Given the description of an element on the screen output the (x, y) to click on. 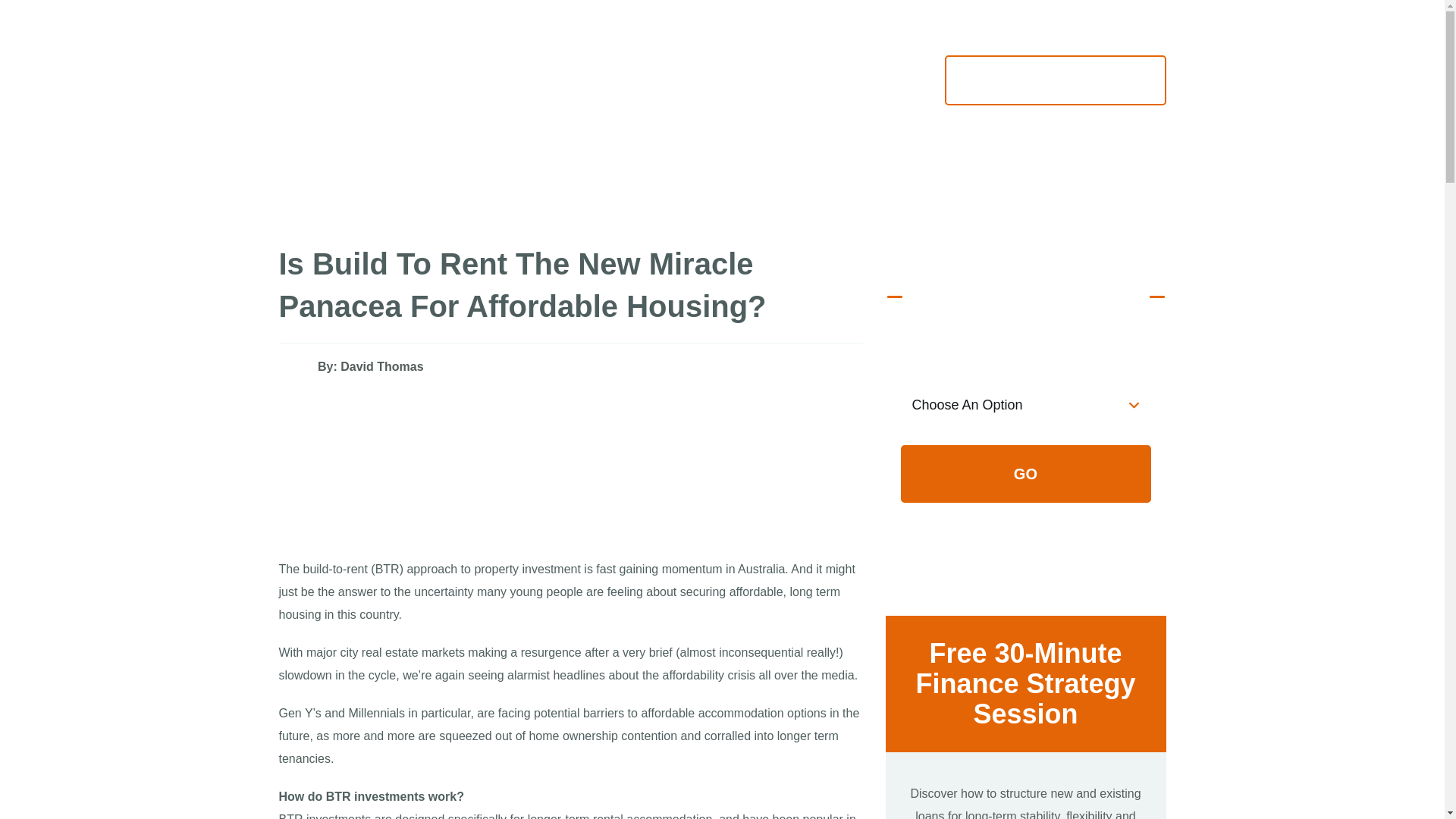
CALL 1300 657 132 (848, 79)
HOME (1055, 80)
FREE RESOURCES (503, 170)
